Given the description of an element on the screen output the (x, y) to click on. 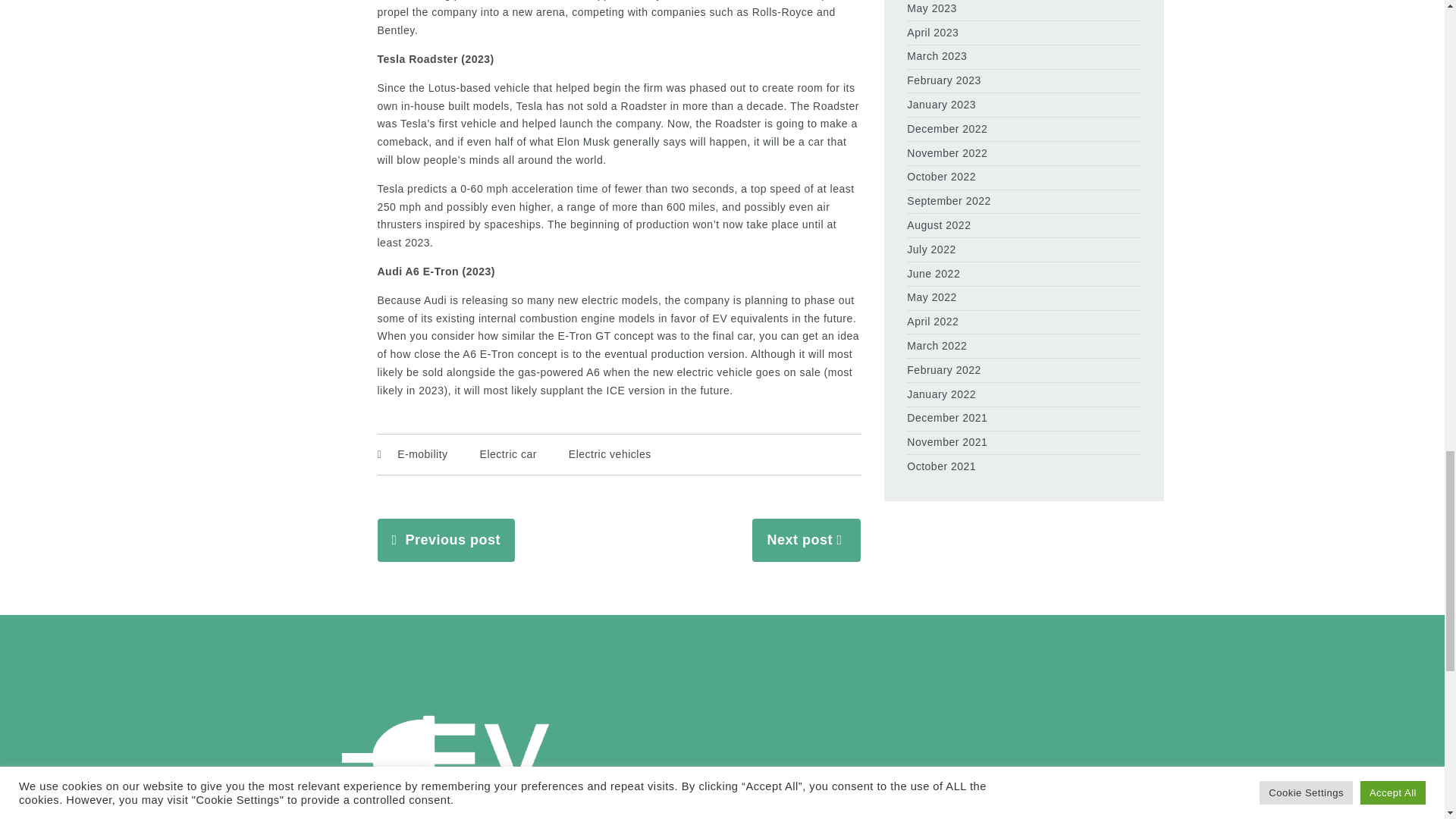
Next post (799, 539)
Previous post (452, 539)
Electric vehicles (609, 454)
E-mobility (422, 454)
Electric car (507, 454)
